Given the description of an element on the screen output the (x, y) to click on. 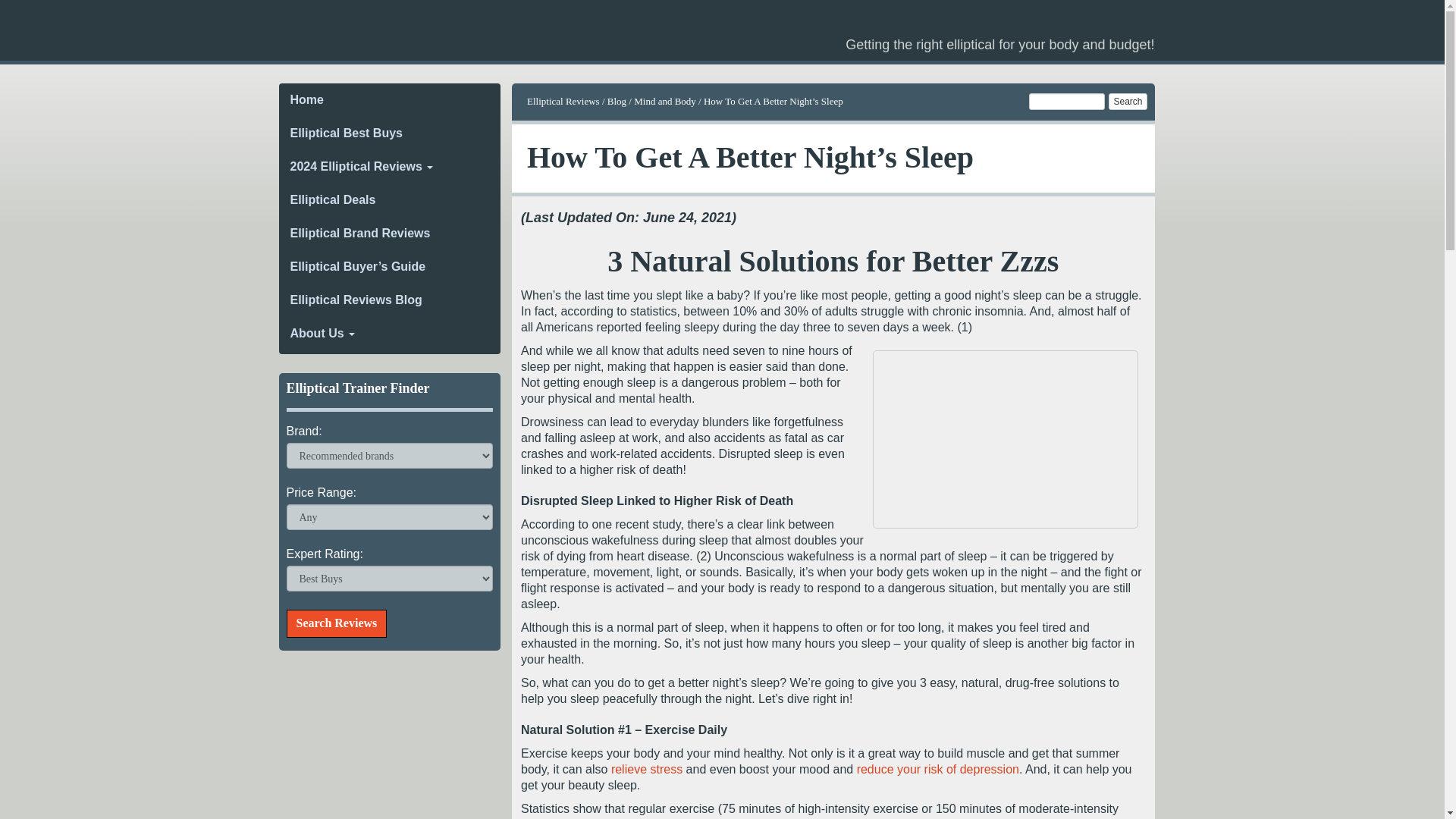
Elliptical Brand Reviews (389, 233)
reduce your risk of depression (938, 768)
Elliptical Reviews Blog (389, 299)
Home (389, 100)
Search (1127, 101)
relieve stress (646, 768)
Search (1127, 101)
Elliptical Reviews Blog (389, 299)
Elliptical Deals (389, 200)
About Us (389, 333)
